Given the description of an element on the screen output the (x, y) to click on. 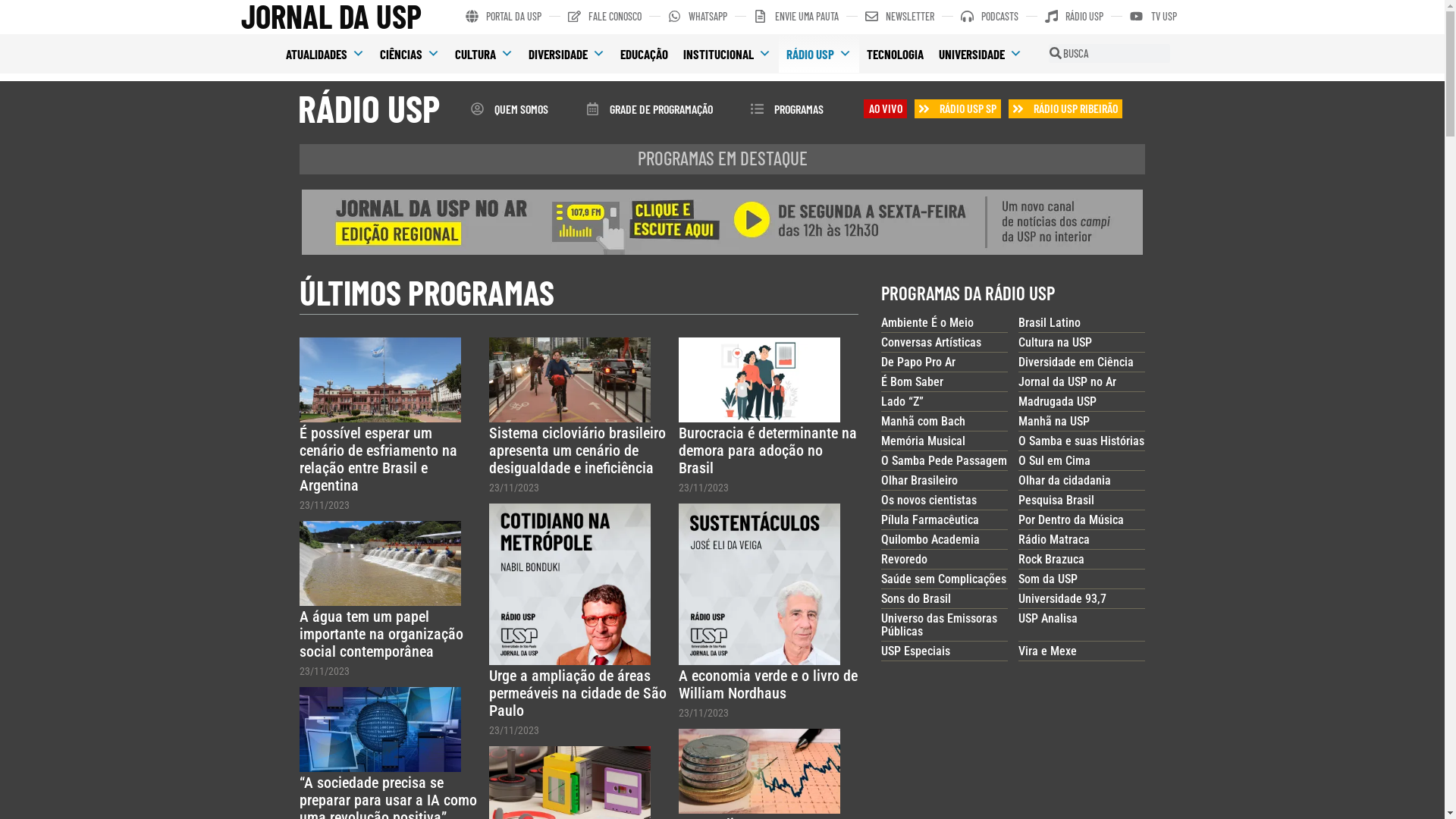
Os novos cientistas Element type: text (928, 499)
PROGRAMAS Element type: text (786, 108)
Olhar da cidadania Element type: text (1064, 480)
TV USP Element type: text (1152, 15)
PODCASTS Element type: text (989, 15)
O Samba Pede Passagem Element type: text (944, 460)
Som da USP Element type: text (1047, 578)
Cultura na USP Element type: text (1055, 342)
PORTAL DA USP Element type: text (503, 15)
Olhar Brasileiro Element type: text (919, 480)
QUEM SOMOS Element type: text (508, 108)
Vira e Mexe Element type: text (1047, 650)
DIVERSIDADE Element type: text (566, 53)
Jornal da USP no Ar Element type: text (1067, 381)
FALE CONOSCO Element type: text (604, 15)
Rock Brazuca Element type: text (1051, 559)
Universidade 93,7 Element type: text (1062, 598)
USP Analisa Element type: text (1047, 618)
TECNOLOGIA Element type: text (895, 53)
ATUALIDADES Element type: text (325, 53)
NEWSLETTER Element type: text (898, 15)
Madrugada USP Element type: text (1057, 401)
Pesquisa Brasil Element type: text (1056, 499)
Sons do Brasil Element type: text (915, 598)
Brasil Latino Element type: text (1049, 322)
CULTURA Element type: text (483, 53)
Quilombo Academia Element type: text (930, 539)
A economia verde e o livro de William Nordhaus Element type: text (767, 684)
De Papo Pro Ar Element type: text (918, 361)
Revoredo Element type: text (904, 559)
AO VIVO Element type: text (885, 108)
UNIVERSIDADE Element type: text (980, 53)
INSTITUCIONAL Element type: text (726, 53)
ENVIE UMA PAUTA Element type: text (795, 15)
O Sul em Cima Element type: text (1054, 460)
WHATSAPP Element type: text (697, 15)
USP Especiais Element type: text (915, 650)
